Given the description of an element on the screen output the (x, y) to click on. 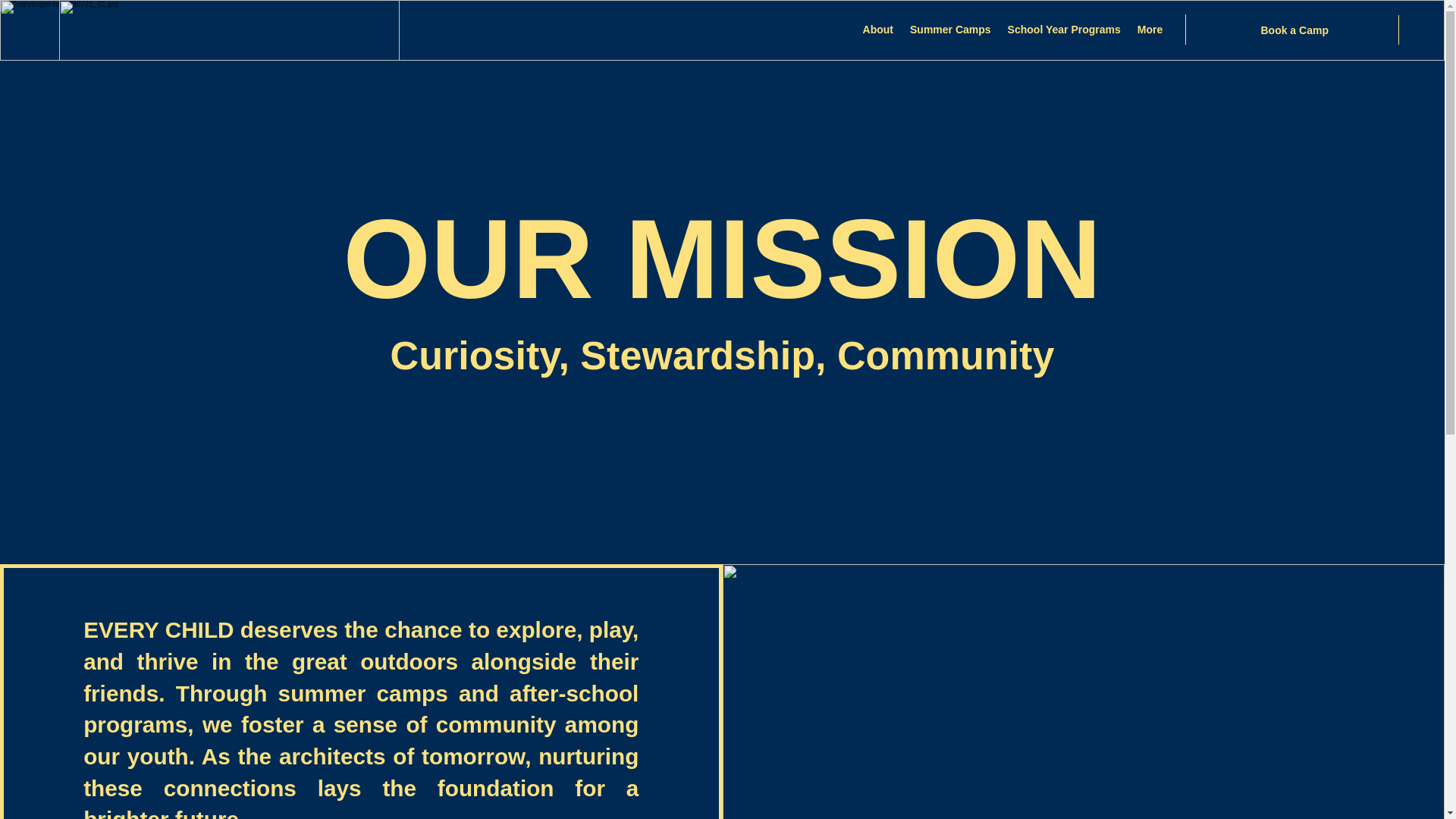
Book a Camp (1296, 29)
Summer Camps (832, 29)
